Given the description of an element on the screen output the (x, y) to click on. 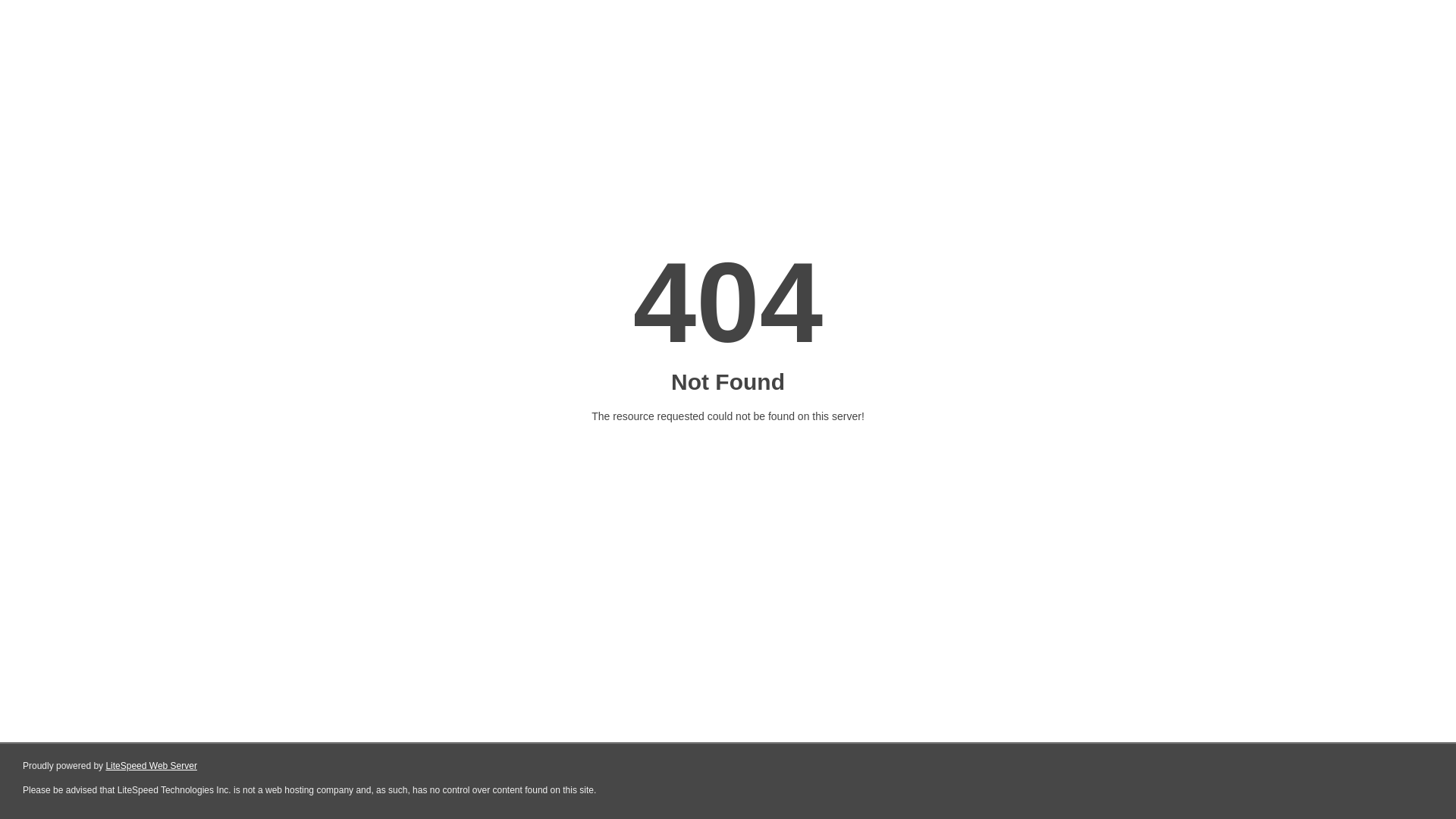
LiteSpeed Web Server Element type: text (151, 765)
